Given the description of an element on the screen output the (x, y) to click on. 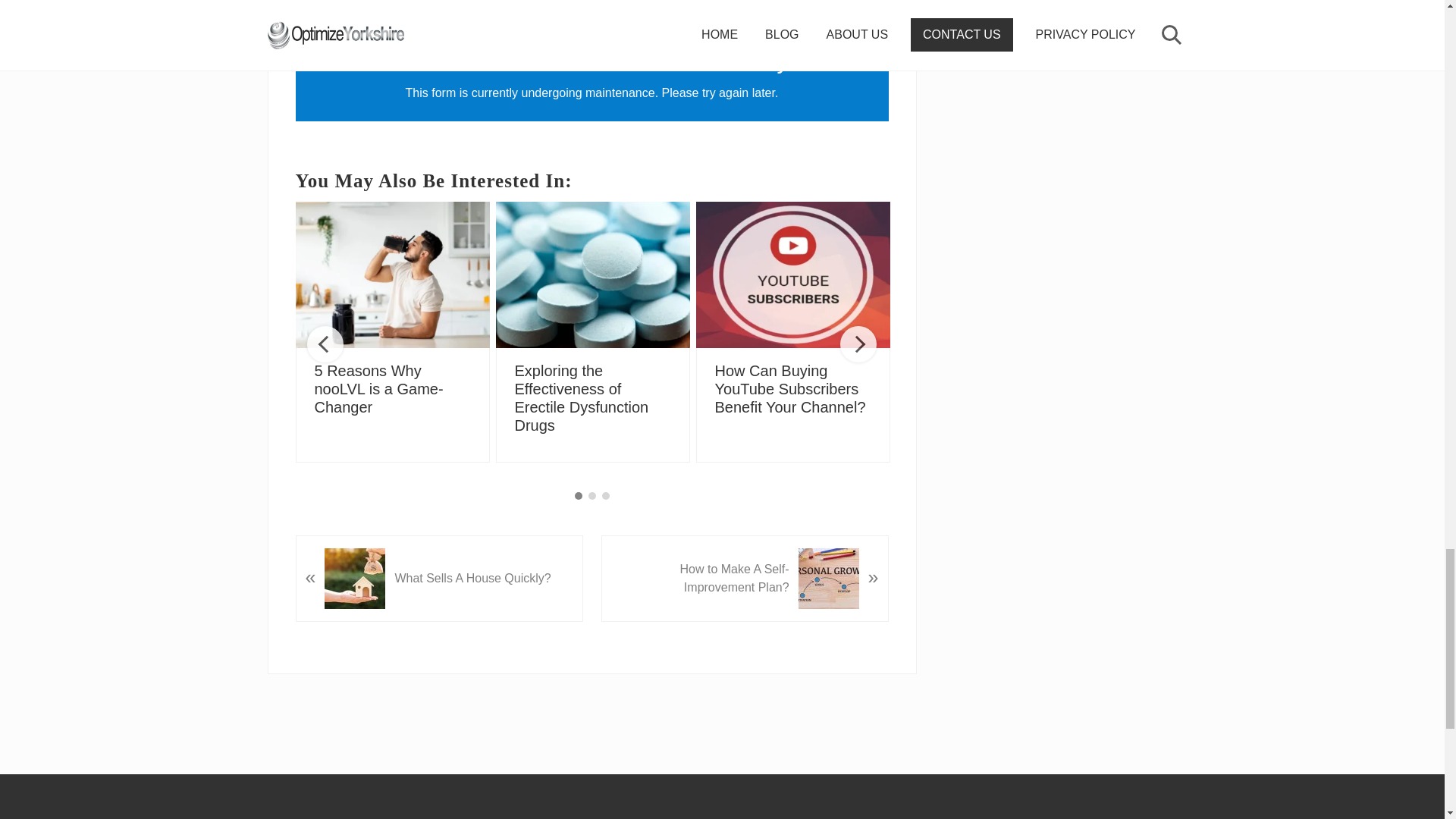
How Can Buying YouTube Subscribers Benefit Your Channel? (792, 274)
How Can Buying YouTube Subscribers Benefit Your Channel? (789, 388)
5 Reasons Why nooLVL is a Game-Changer (392, 274)
Exploring the Effectiveness of Erectile Dysfunction Drugs (580, 398)
5 Reasons Why nooLVL is a Game-Changer (378, 388)
Previous (325, 343)
Exploring the Effectiveness of Erectile Dysfunction Drugs (593, 274)
